Given the description of an element on the screen output the (x, y) to click on. 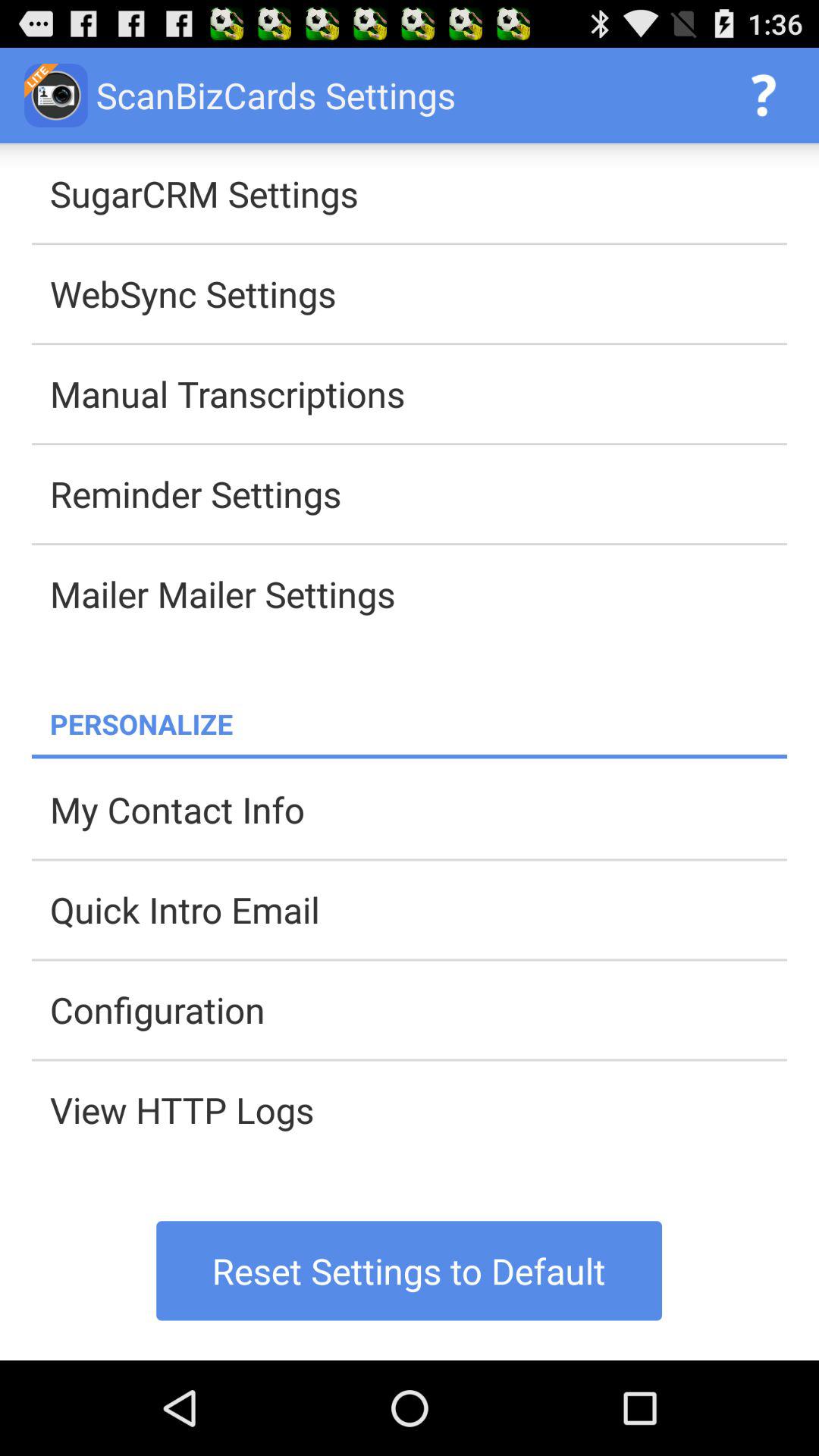
select item above the configuration app (418, 909)
